Given the description of an element on the screen output the (x, y) to click on. 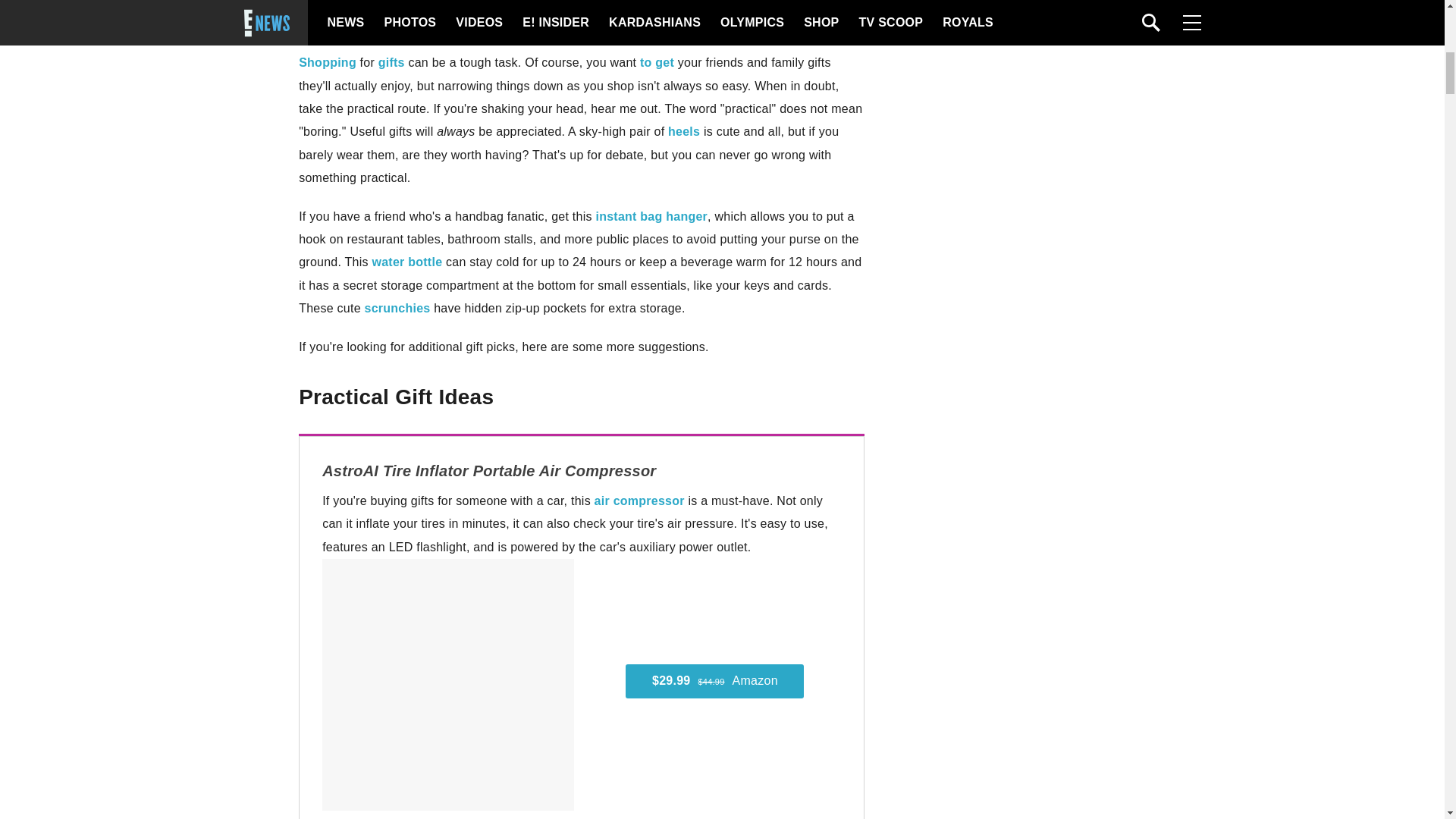
Shopping (327, 62)
